Given the description of an element on the screen output the (x, y) to click on. 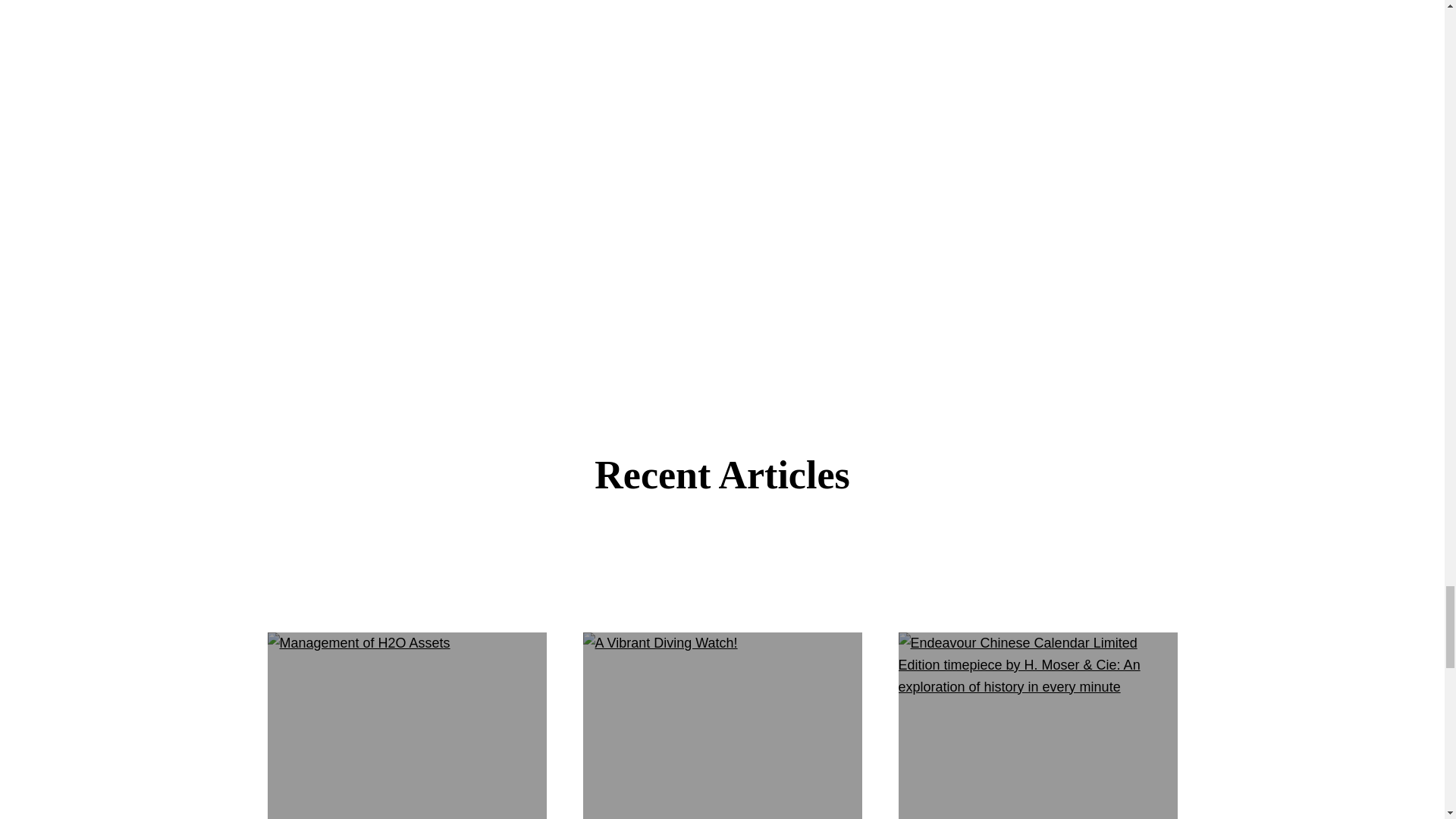
A Vibrant Diving Watch! 8 (659, 643)
